Given the description of an element on the screen output the (x, y) to click on. 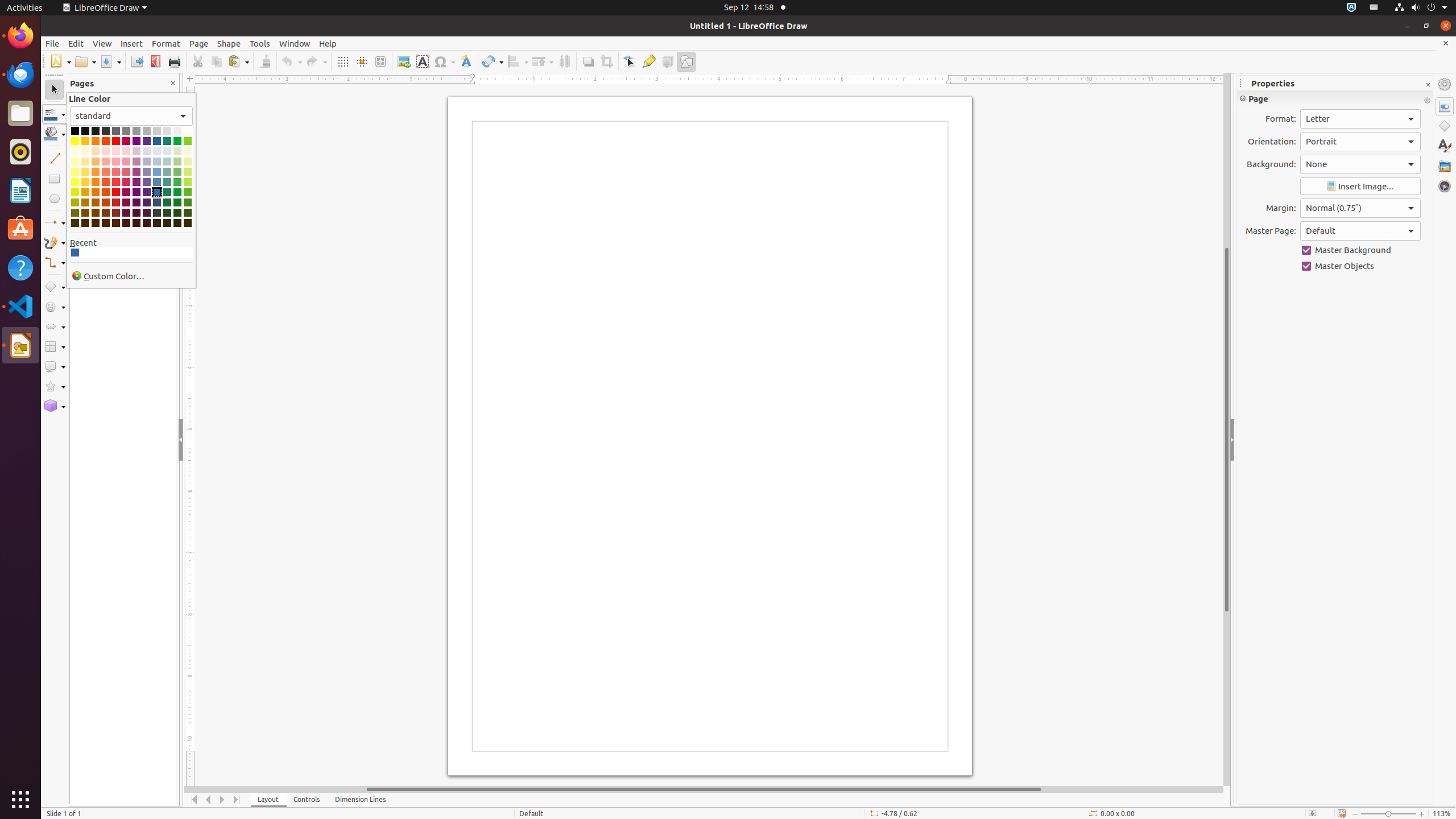
Light Purple 3 Element type: list-item (136, 161)
Light Blue 1 Element type: list-item (156, 181)
Light Red 2 Element type: list-item (115, 171)
Gold Element type: list-item (85, 140)
Dark Blue 1 Element type: list-item (74, 252)
